Given the description of an element on the screen output the (x, y) to click on. 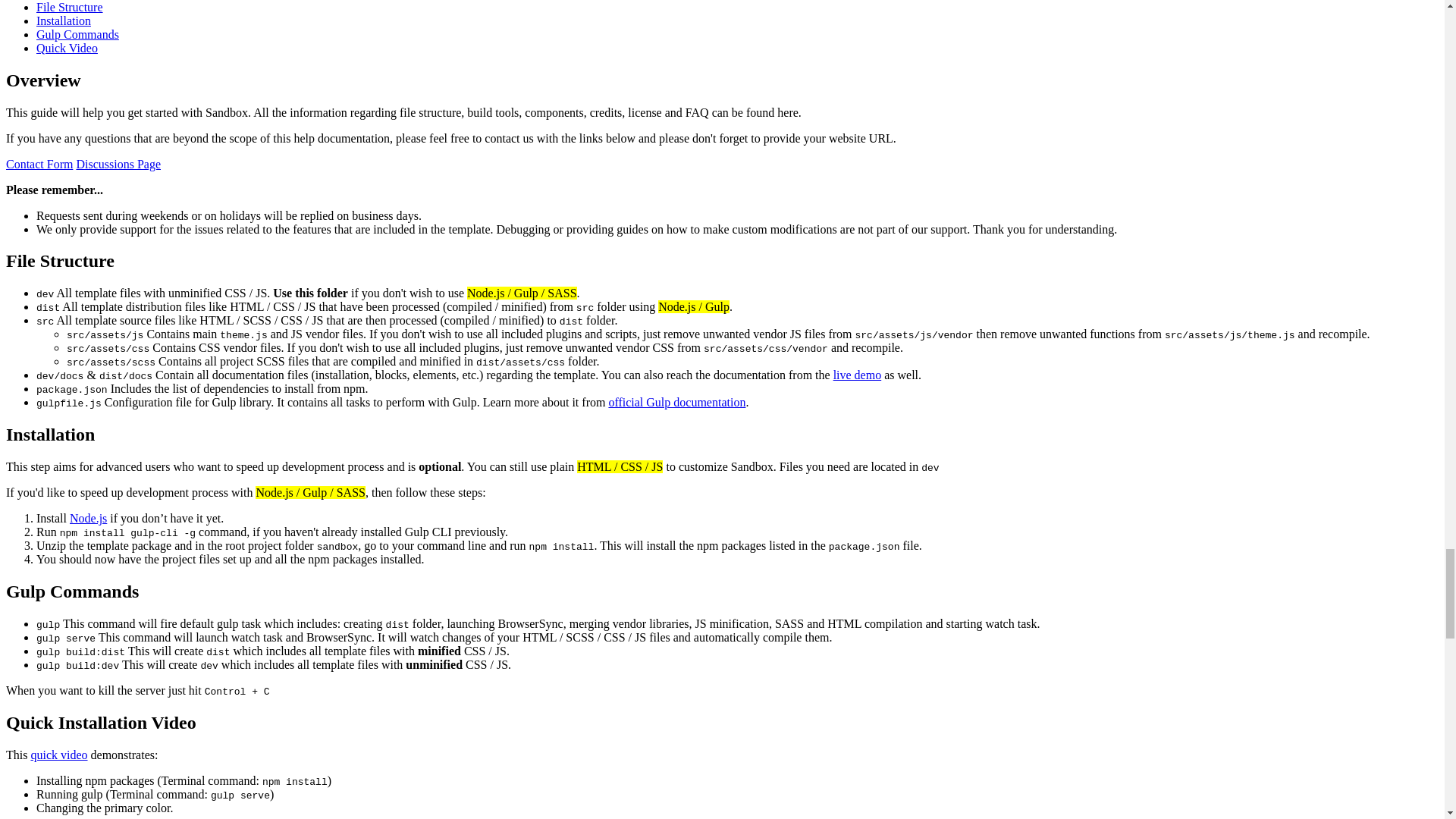
File Structure (69, 6)
Gulp Commands (77, 33)
Quick Video (66, 47)
Installation (63, 20)
